Given the description of an element on the screen output the (x, y) to click on. 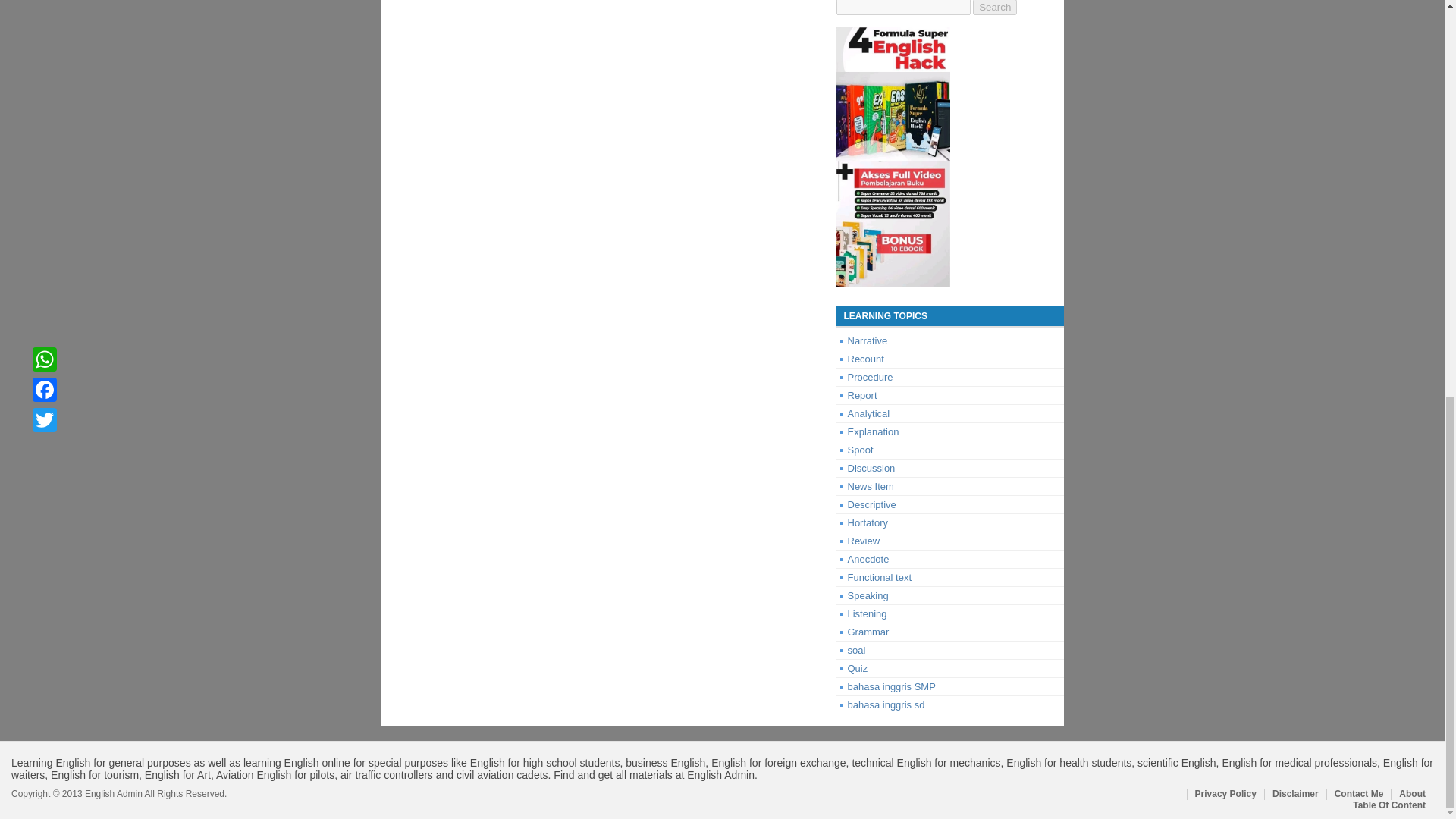
Procedure (870, 377)
soal (856, 650)
bahasa inggris sd (885, 704)
Quiz (857, 668)
Explanation (873, 431)
Discussion (871, 468)
Narrative (867, 340)
About (1412, 793)
Spoof (860, 449)
News Item (870, 486)
bahasa inggris SMP (891, 686)
Review (863, 541)
Functional text (879, 577)
Search (994, 7)
Report (862, 395)
